Given the description of an element on the screen output the (x, y) to click on. 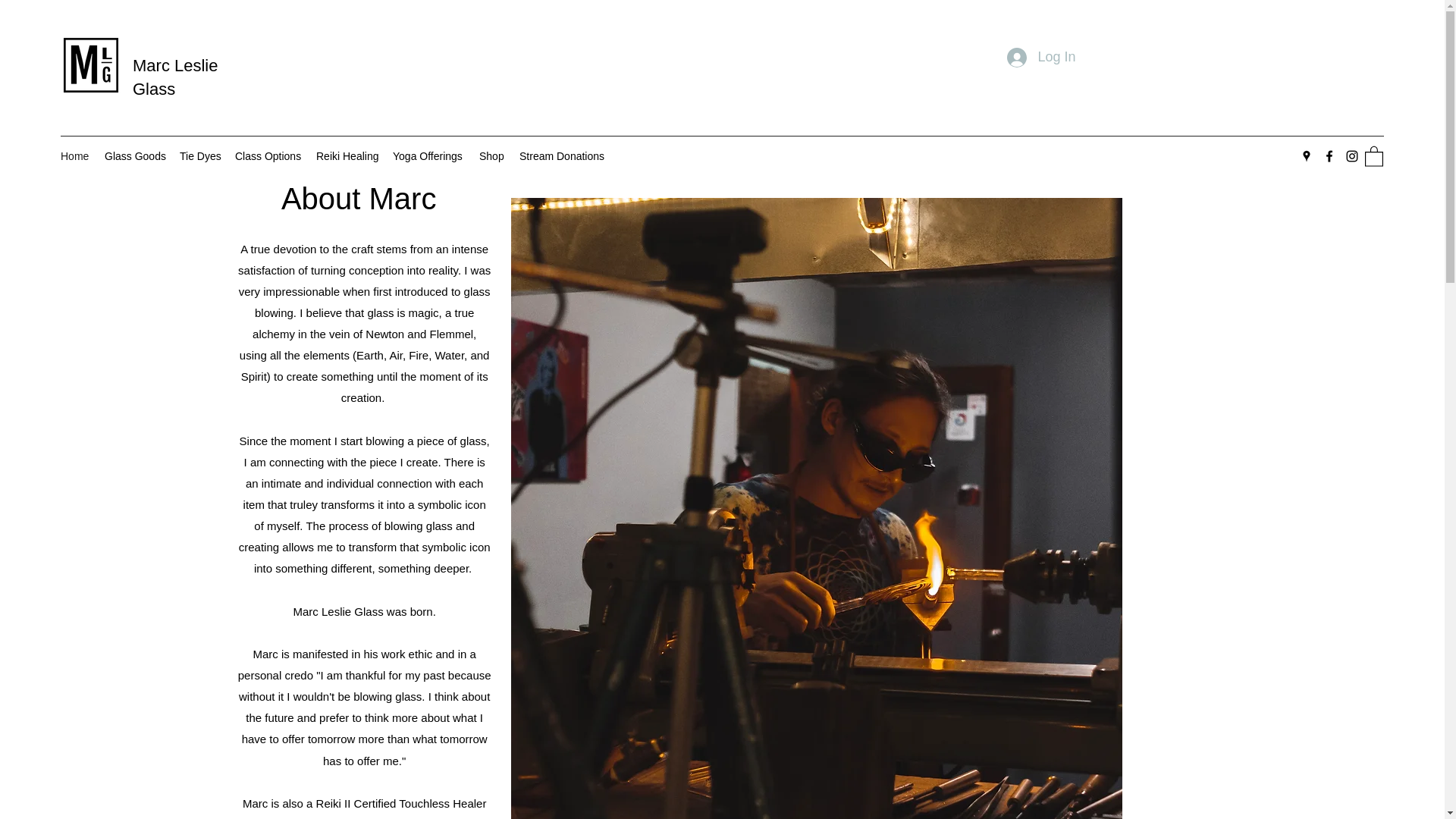
Log In (1040, 57)
Home (74, 155)
Stream Donations (561, 155)
Marc Leslie Glass (174, 77)
Tie Dyes (199, 155)
Reiki Healing (346, 155)
Shop (491, 155)
Yoga Offerings (428, 155)
Class Options (267, 155)
Glass Goods (134, 155)
